Given the description of an element on the screen output the (x, y) to click on. 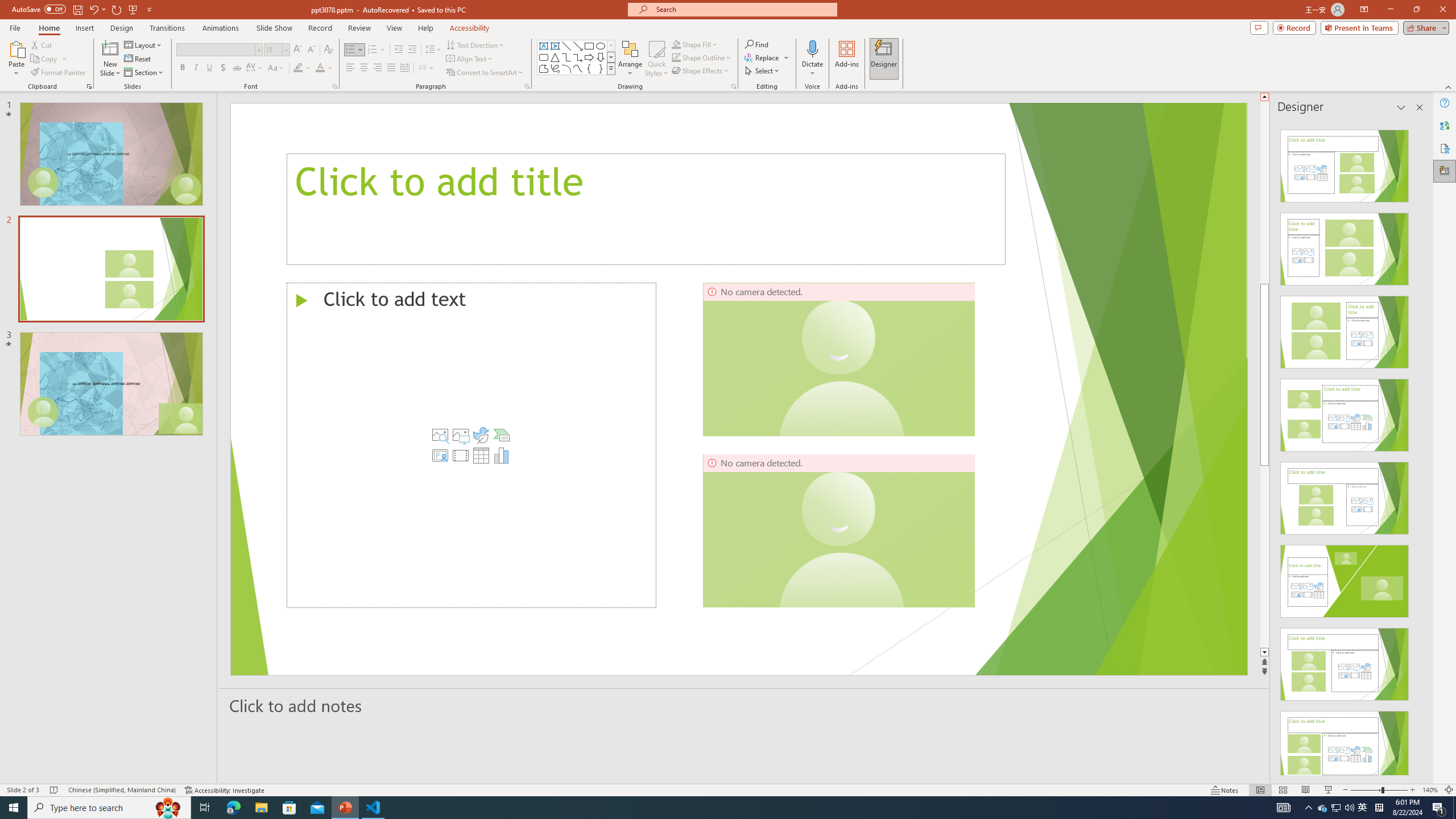
Text Highlight Color Yellow (297, 67)
Cut (42, 44)
Quick Styles (656, 58)
Text Box (543, 45)
Paragraph... (526, 85)
Insert Table (480, 455)
Design Idea (1344, 743)
Shape Effects (700, 69)
Connector: Elbow Arrow (577, 57)
